Given the description of an element on the screen output the (x, y) to click on. 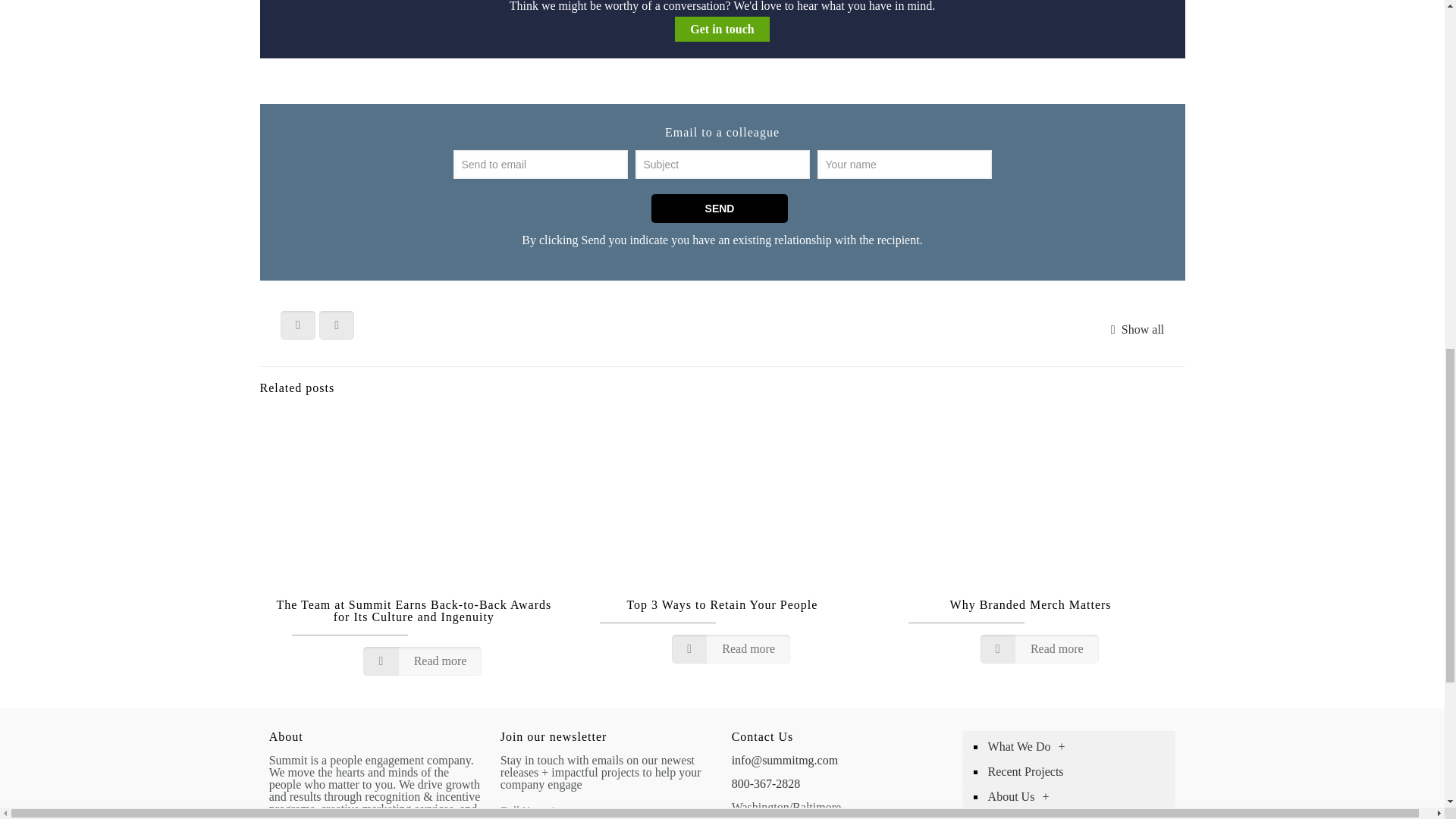
Send (718, 208)
